Given the description of an element on the screen output the (x, y) to click on. 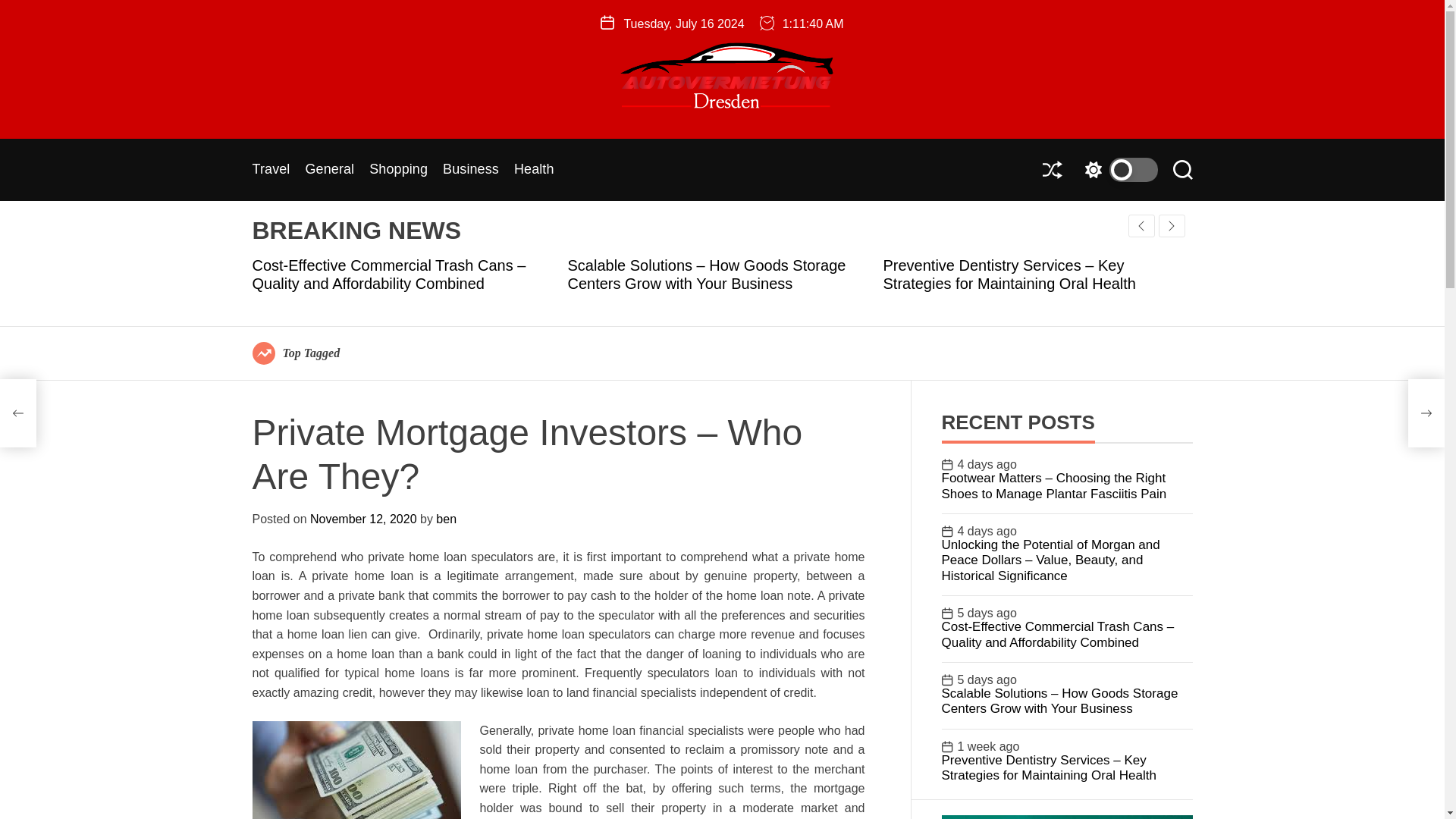
ben (446, 518)
Business (470, 169)
General (328, 169)
November 12, 2020 (363, 518)
Health (533, 169)
Switch color mode (1117, 169)
Shopping (398, 169)
Travel (270, 169)
